Given the description of an element on the screen output the (x, y) to click on. 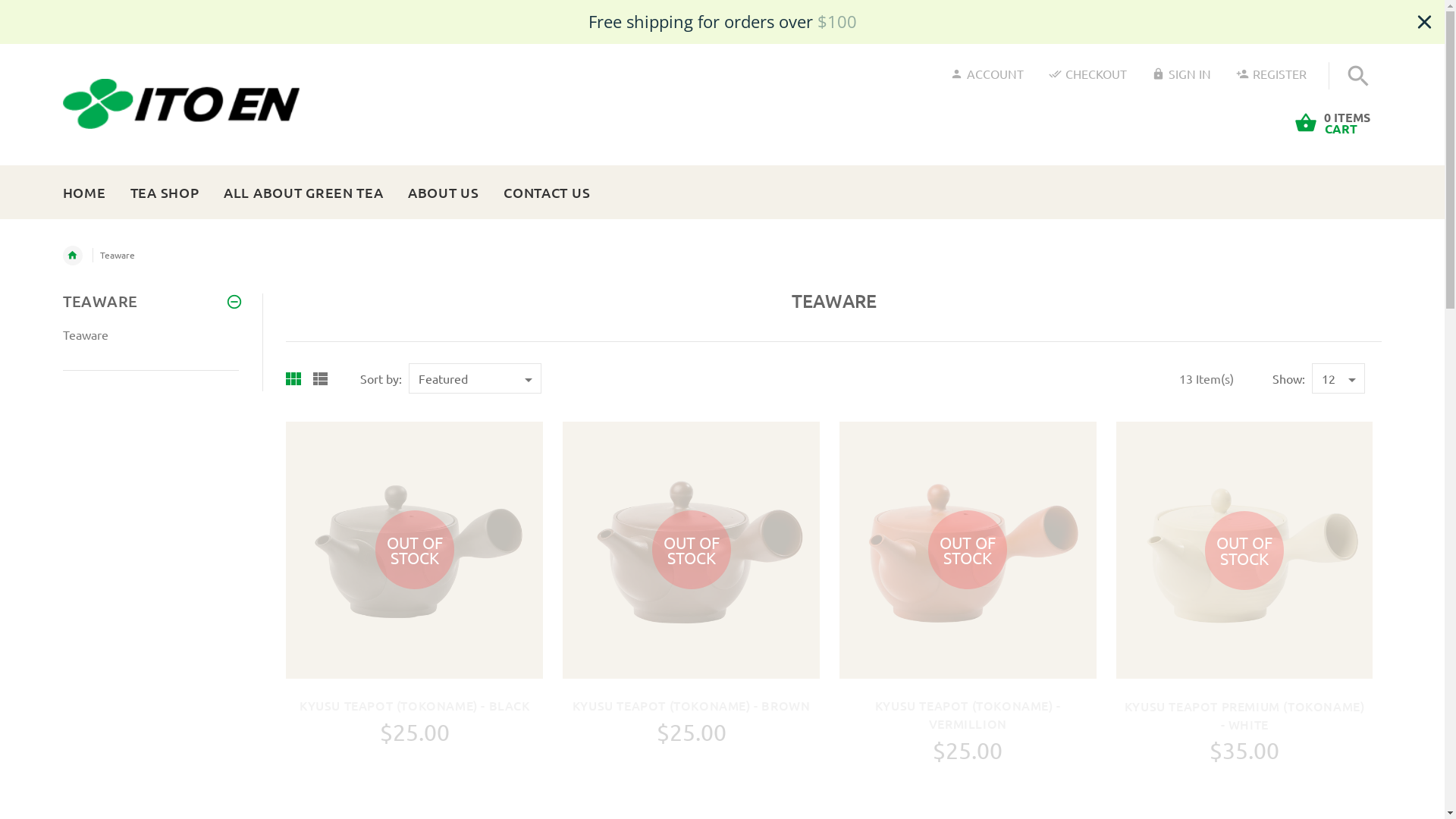
CONTACT US Element type: text (540, 189)
Teaware Element type: text (84, 334)
0 ITEMS
CART Element type: text (1356, 134)
KYUSU TEAPOT (TOKONAME) - BLACK Element type: text (414, 704)
KYUSU TEAPOT (TOKONAME) - VERMILLION Element type: text (967, 713)
HOME Element type: text (89, 189)
ABOUT US Element type: text (443, 189)
ACCOUNT Element type: text (985, 72)
KYUSU TEAPOT (TOKONAME) - BROWN Element type: text (691, 704)
CHECKOUT Element type: text (1087, 72)
REGISTER Element type: text (1271, 72)
KYUSU TEAPOT PREMIUM (TOKONAME) - WHITE Element type: text (1244, 714)
SIGN IN Element type: text (1180, 72)
ALL ABOUT GREEN TEA Element type: text (303, 189)
TEA SHOP Element type: text (164, 189)
